Given the description of an element on the screen output the (x, y) to click on. 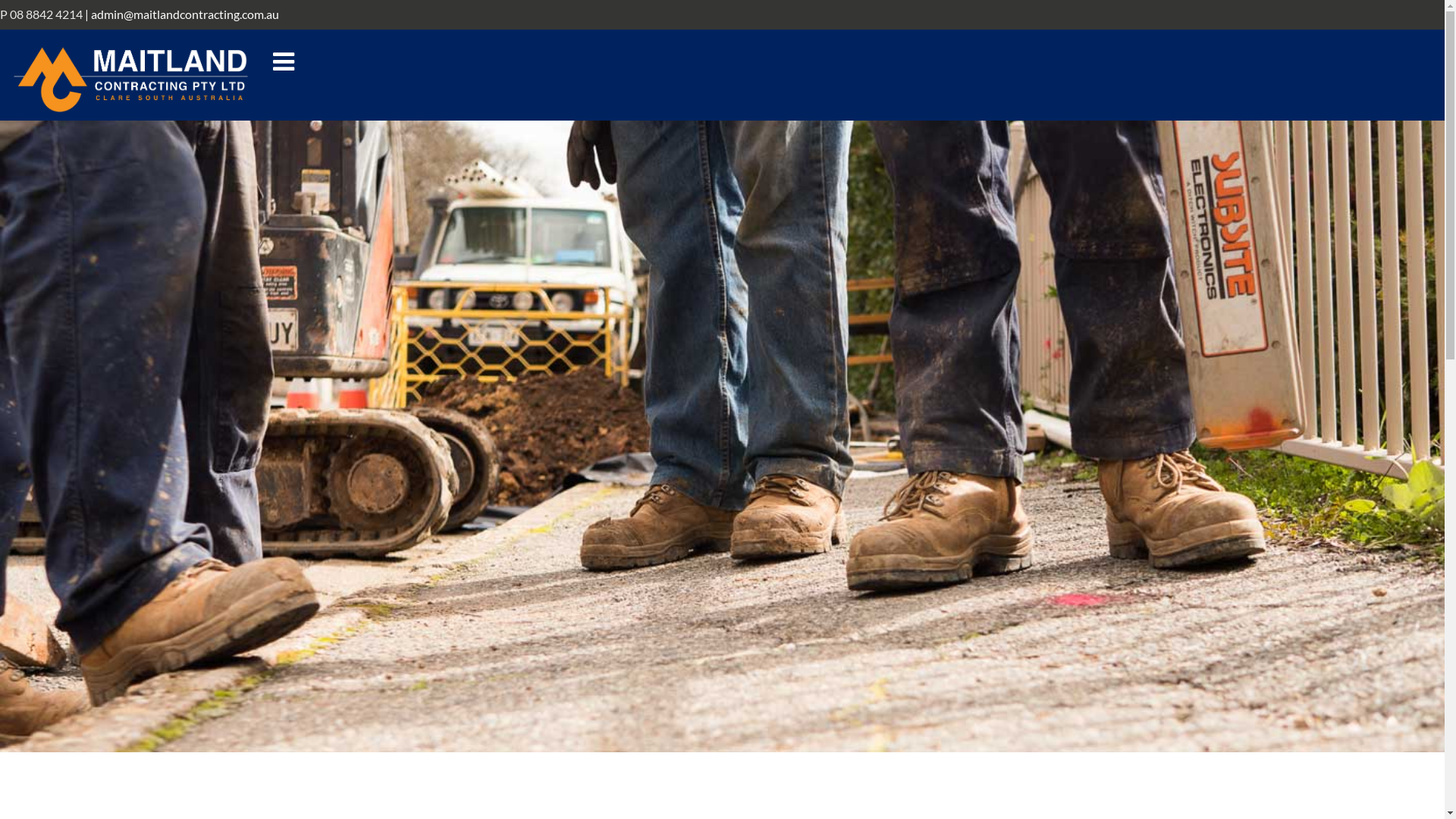
P 08 8842 4214 Element type: text (41, 13)
admin@maitlandcontracting.com.au Element type: text (185, 13)
